Given the description of an element on the screen output the (x, y) to click on. 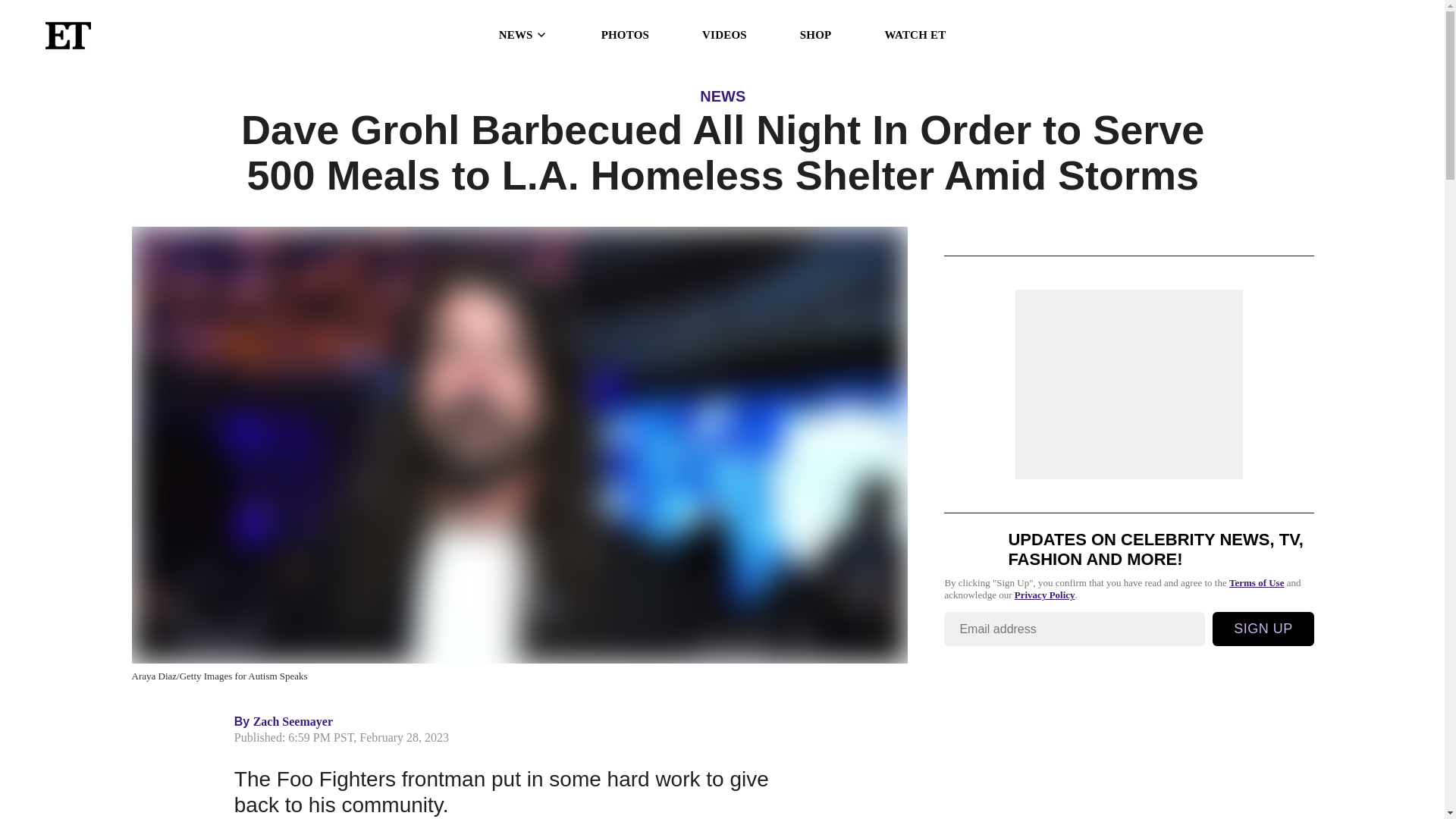
NEWS (722, 95)
PHOTOS (625, 34)
WATCH ET (913, 34)
SHOP (815, 34)
VIDEOS (723, 34)
NEWS (523, 34)
Zach Seemayer (293, 721)
